Given the description of an element on the screen output the (x, y) to click on. 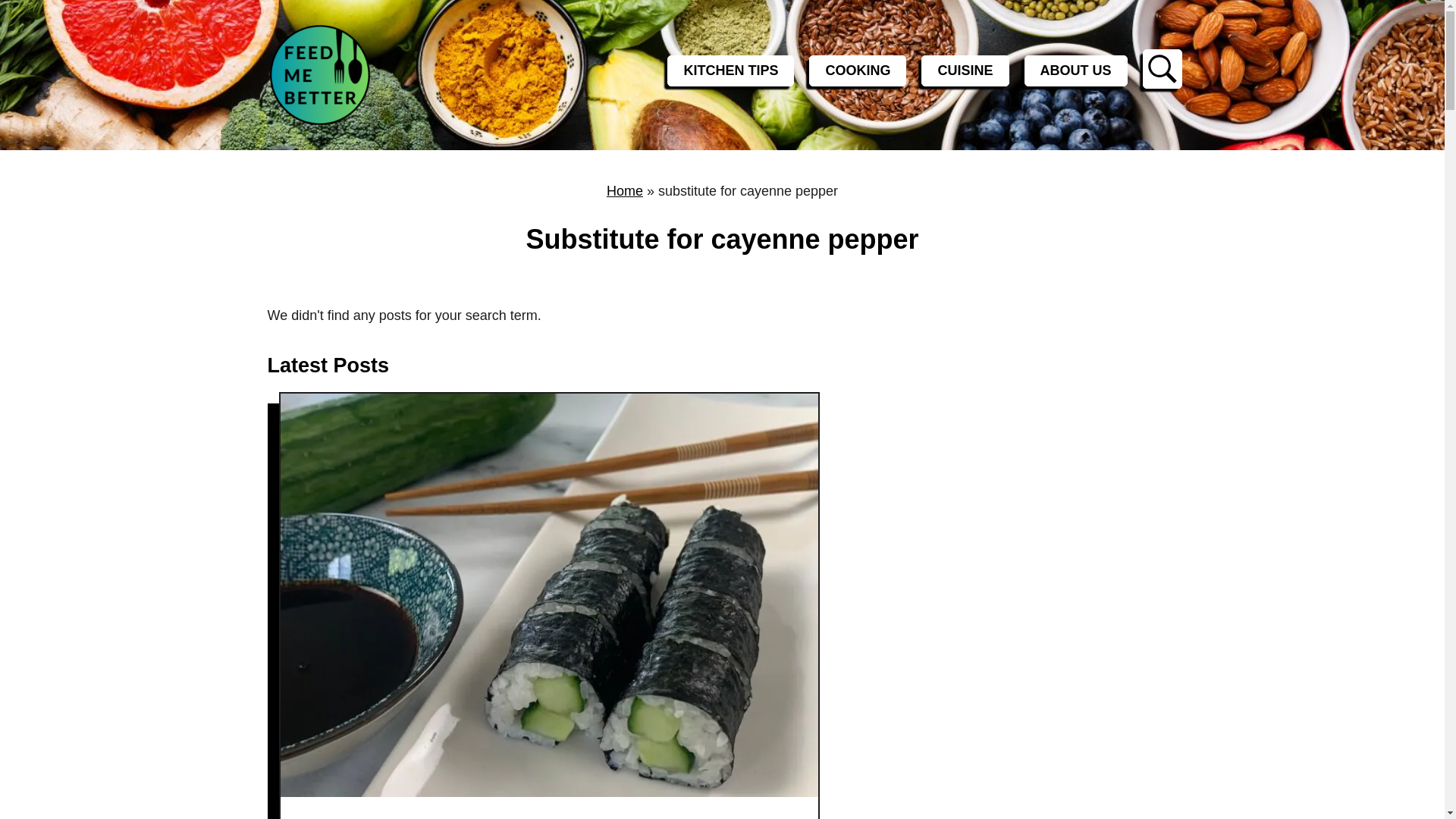
ABOUT US (1074, 70)
COOKING (857, 70)
CUISINE (965, 70)
KITCHEN TIPS (729, 70)
Home (625, 191)
FeedMeBetter (370, 74)
